Given the description of an element on the screen output the (x, y) to click on. 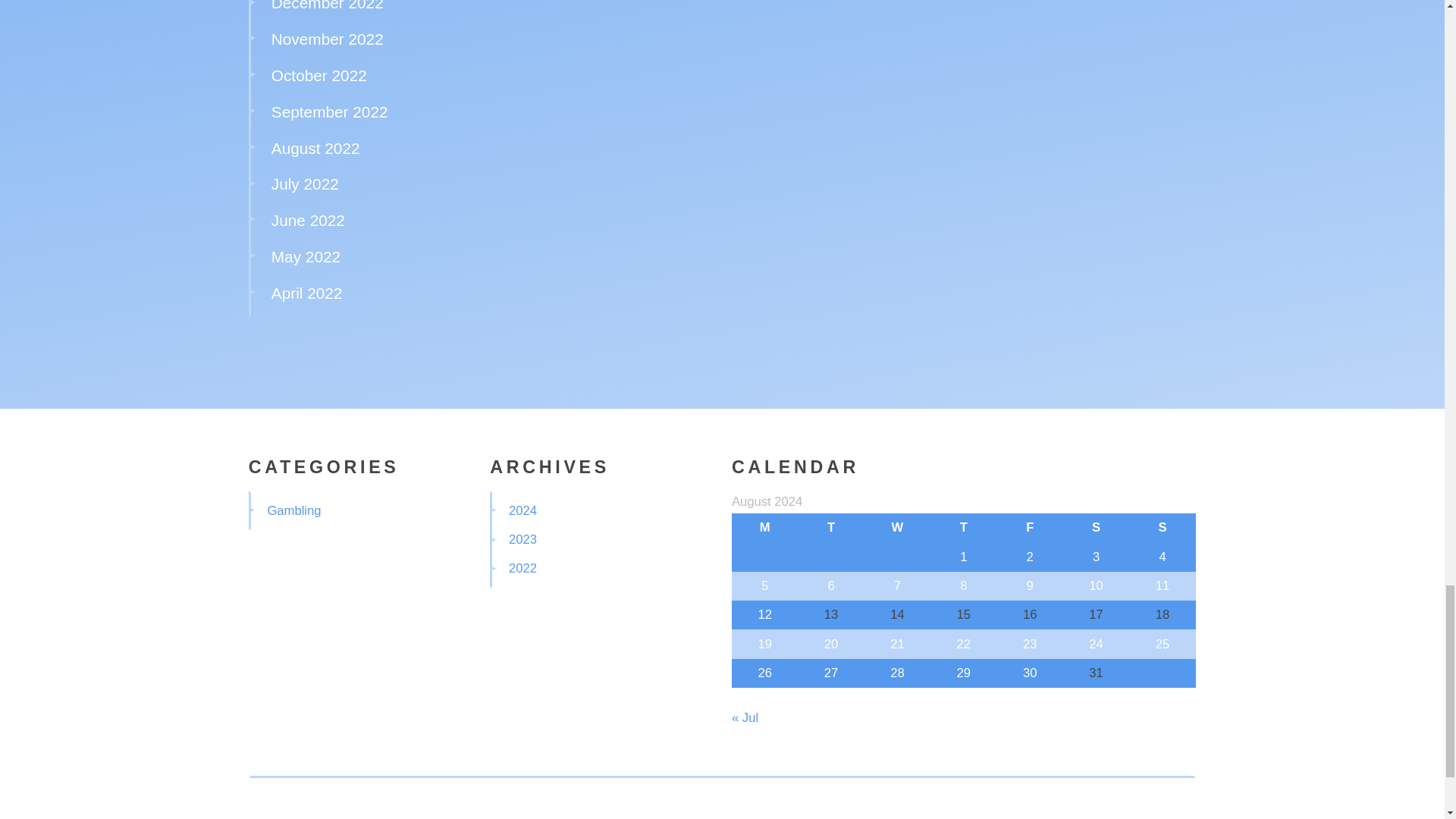
December 2022 (327, 5)
June 2022 (307, 220)
Monday (764, 527)
Wednesday (897, 527)
November 2022 (327, 38)
May 2022 (305, 256)
July 2022 (304, 183)
Saturday (1095, 527)
Tuesday (830, 527)
October 2022 (318, 75)
